Given the description of an element on the screen output the (x, y) to click on. 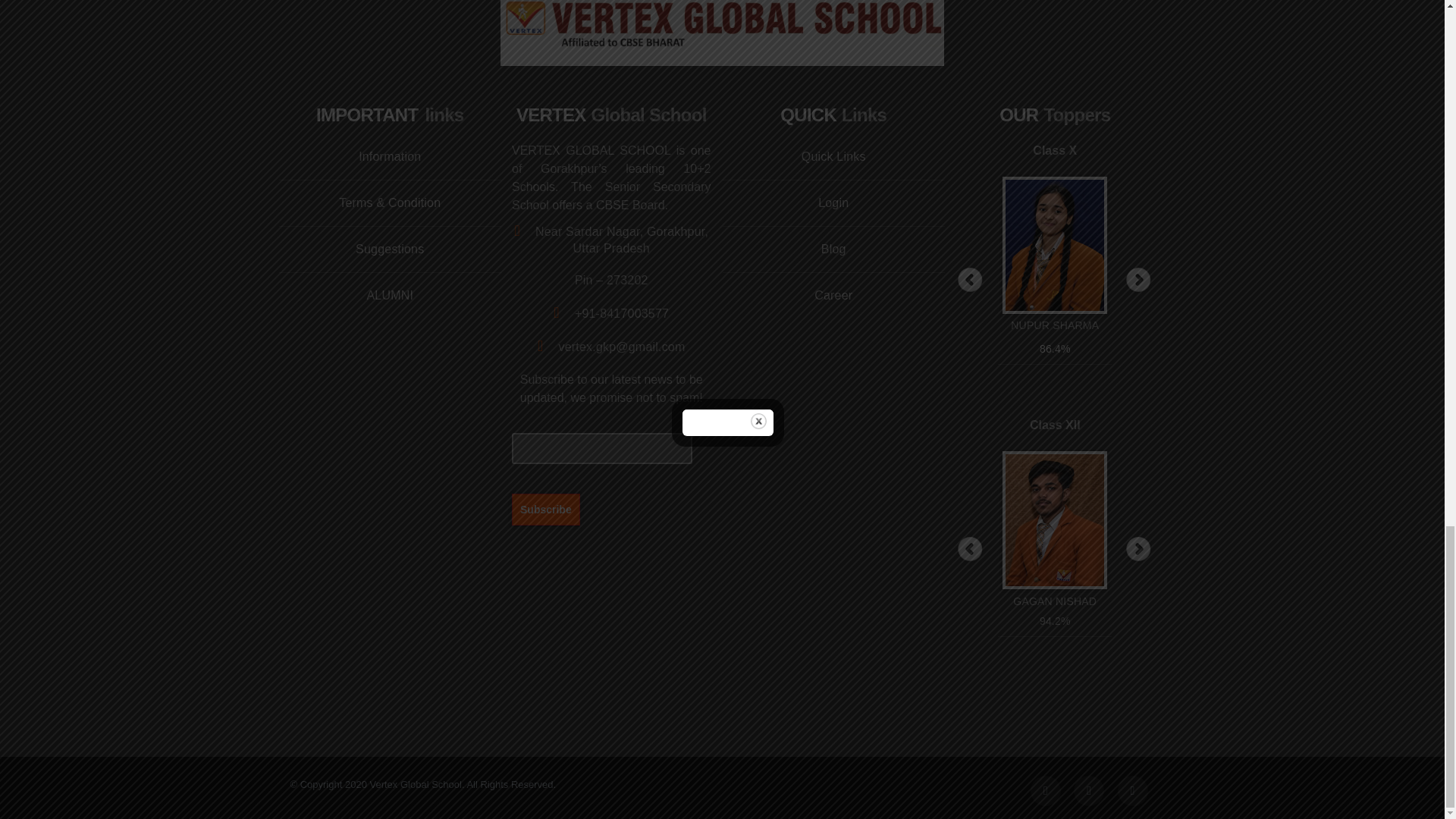
Subscribe (545, 508)
